Given the description of an element on the screen output the (x, y) to click on. 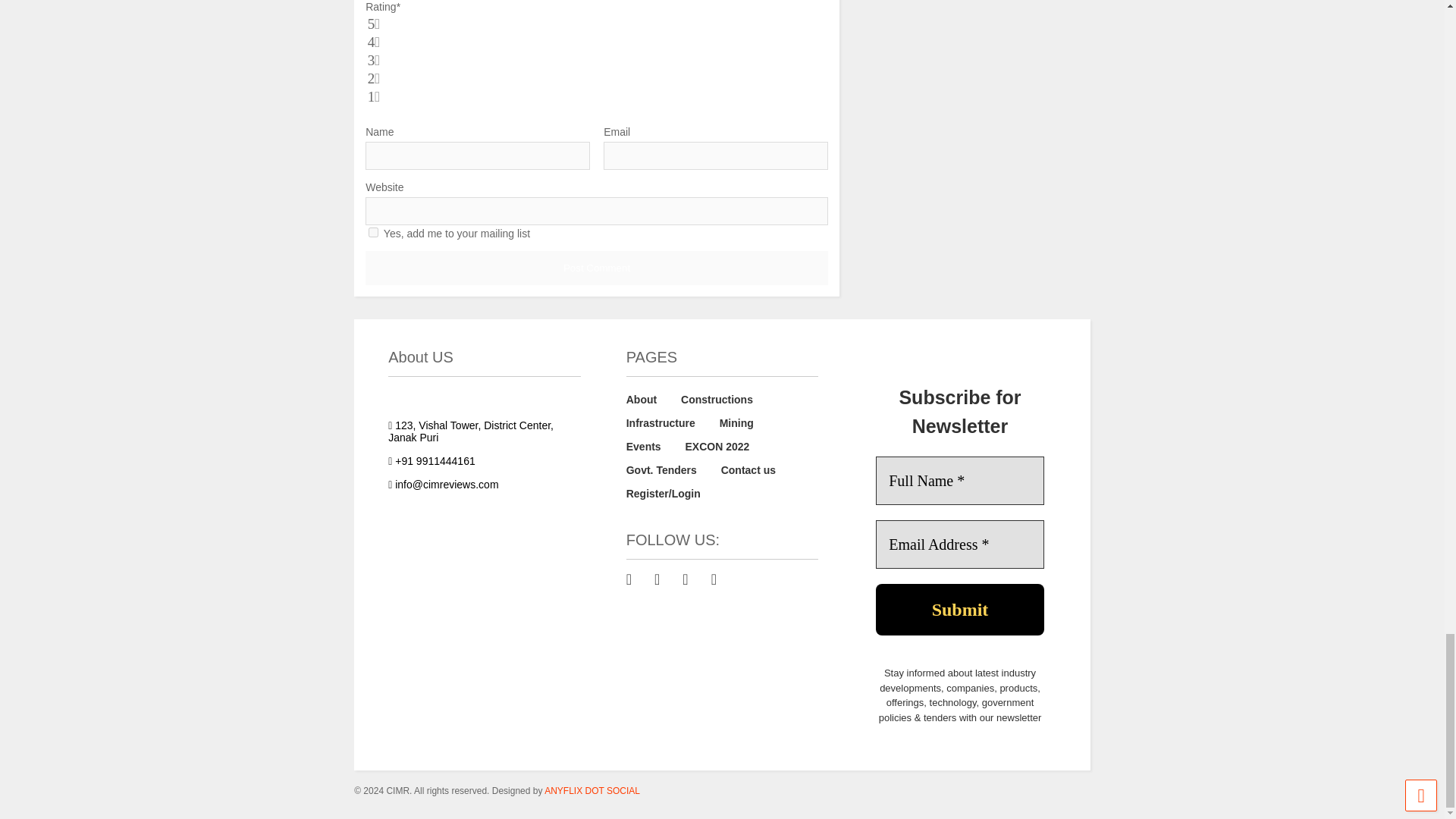
Submit (959, 609)
1 (373, 232)
Post Comment (596, 267)
